Given the description of an element on the screen output the (x, y) to click on. 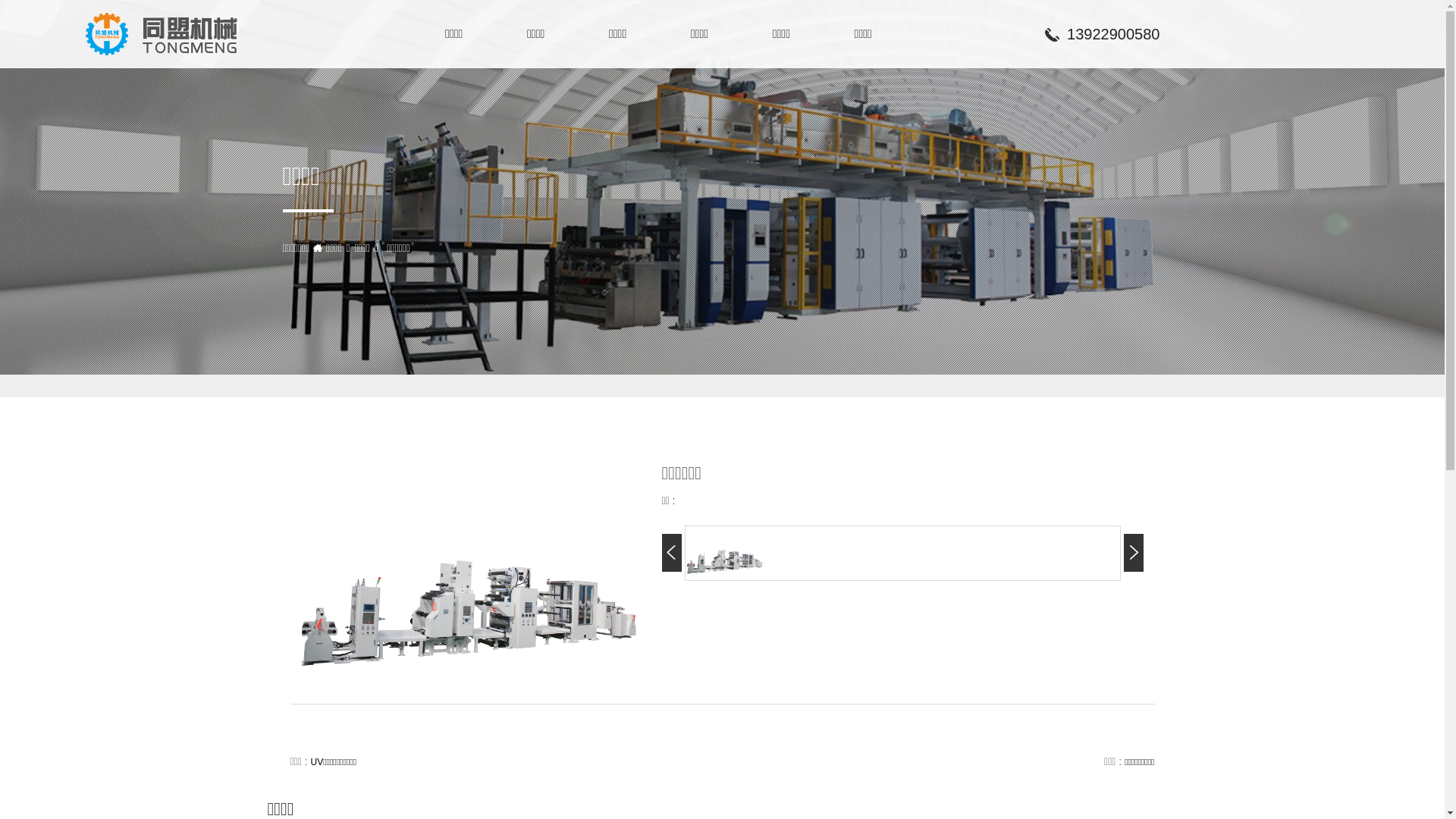
r6 Element type: hover (724, 552)
r6 Element type: hover (470, 575)
13922900580 Element type: text (1099, 34)
